Given the description of an element on the screen output the (x, y) to click on. 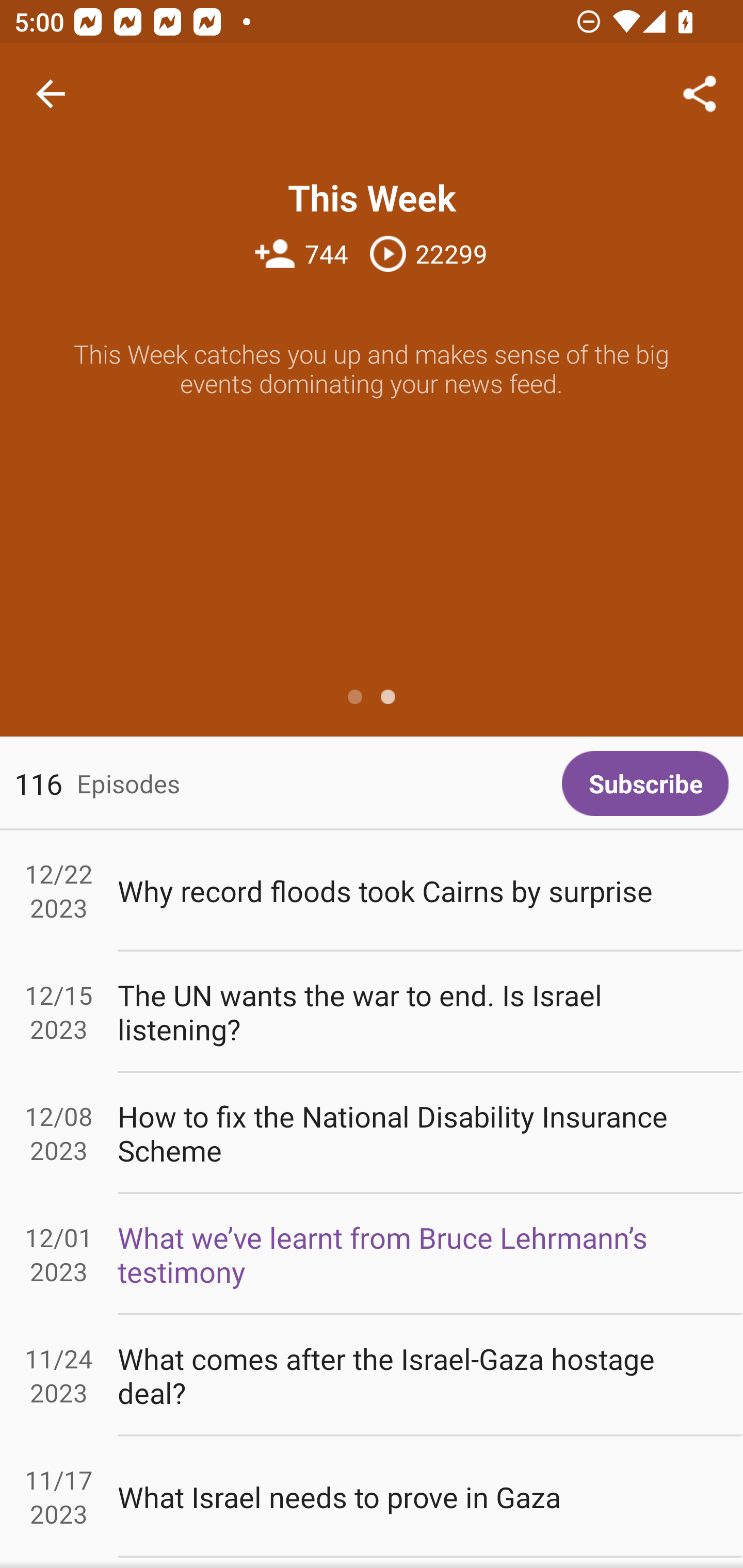
Navigate up (50, 93)
Share... (699, 93)
Subscribe (644, 783)
11/17 2023 What Israel needs to prove in Gaza (371, 1496)
